Given the description of an element on the screen output the (x, y) to click on. 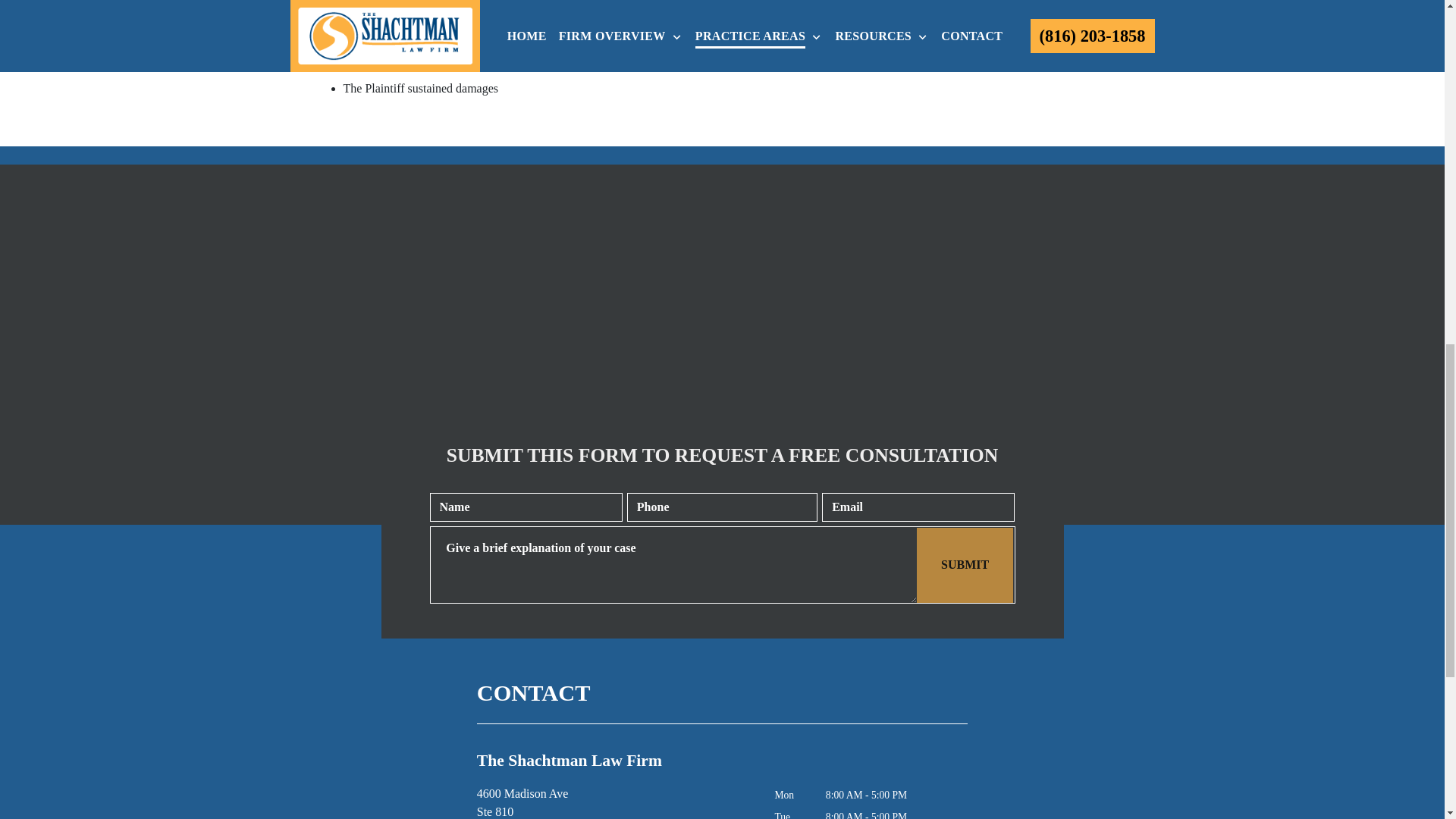
SUBMIT (965, 564)
